Given the description of an element on the screen output the (x, y) to click on. 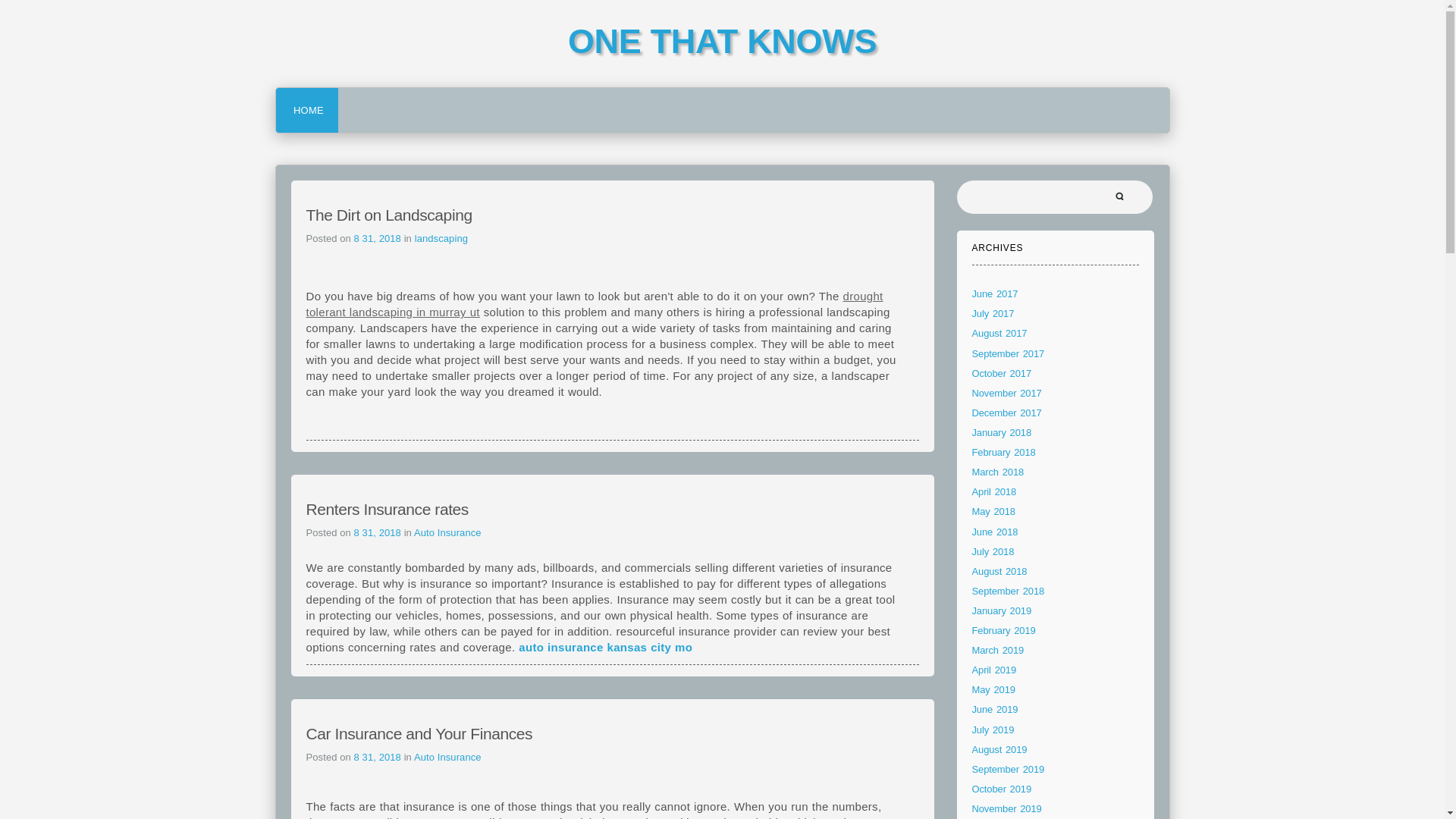
drought tolerant landscaping in murray ut (594, 303)
July 2017 (993, 313)
auto insurance kansas city mo (605, 646)
The Dirt on Landscaping (388, 214)
landscaping (440, 238)
Renters Insurance rates (386, 508)
Auto Insurance (447, 756)
Car Insurance and Your Finances (418, 733)
Renters  Insurance rates (386, 508)
August 2017 (999, 333)
Car Insurance and Your Finances (418, 733)
September 2017 (1008, 353)
View all posts in landscaping (440, 238)
October 2017 (1002, 373)
View all posts in Auto Insurance (447, 532)
